Given the description of an element on the screen output the (x, y) to click on. 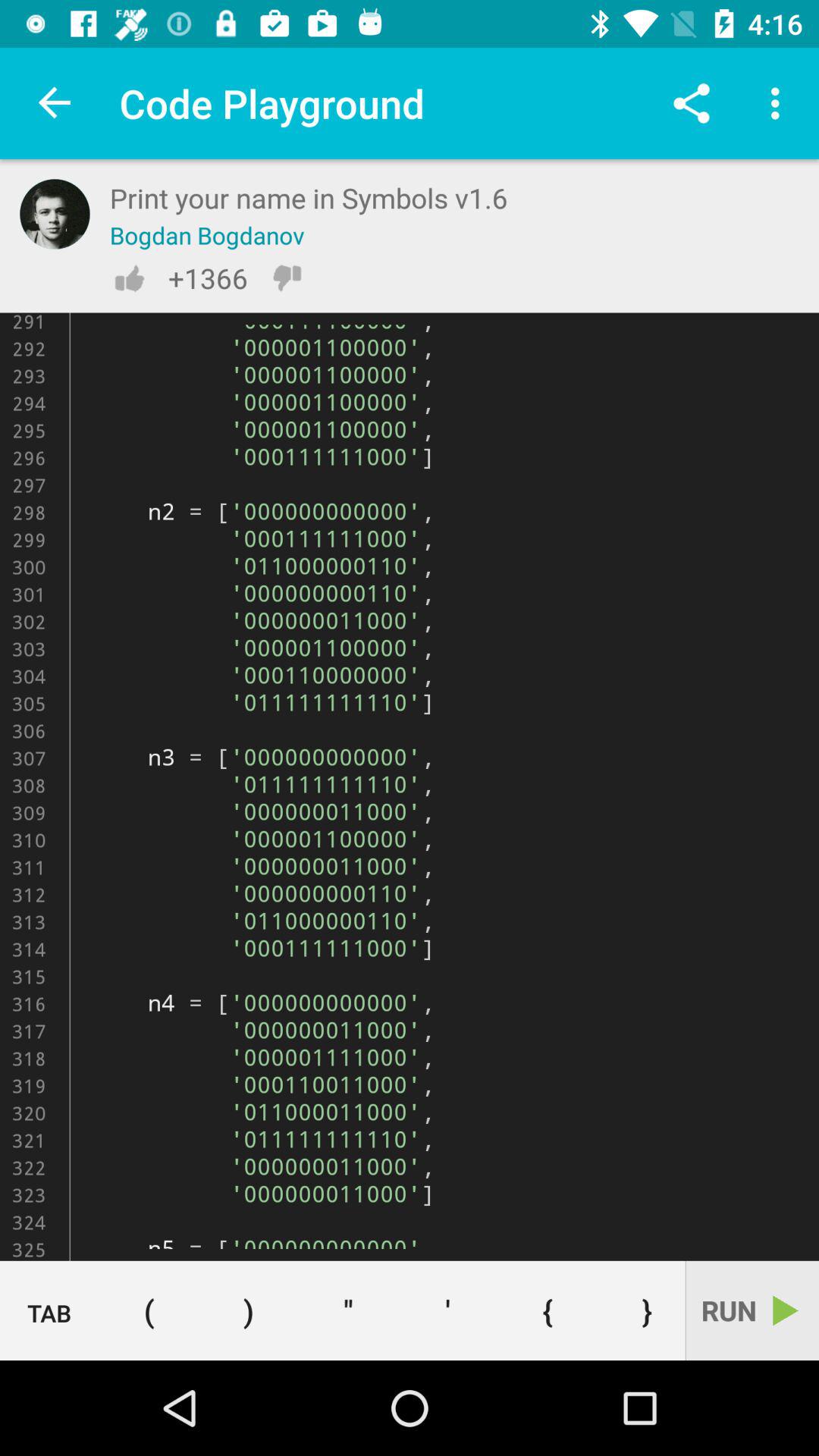
like this post (129, 277)
